Given the description of an element on the screen output the (x, y) to click on. 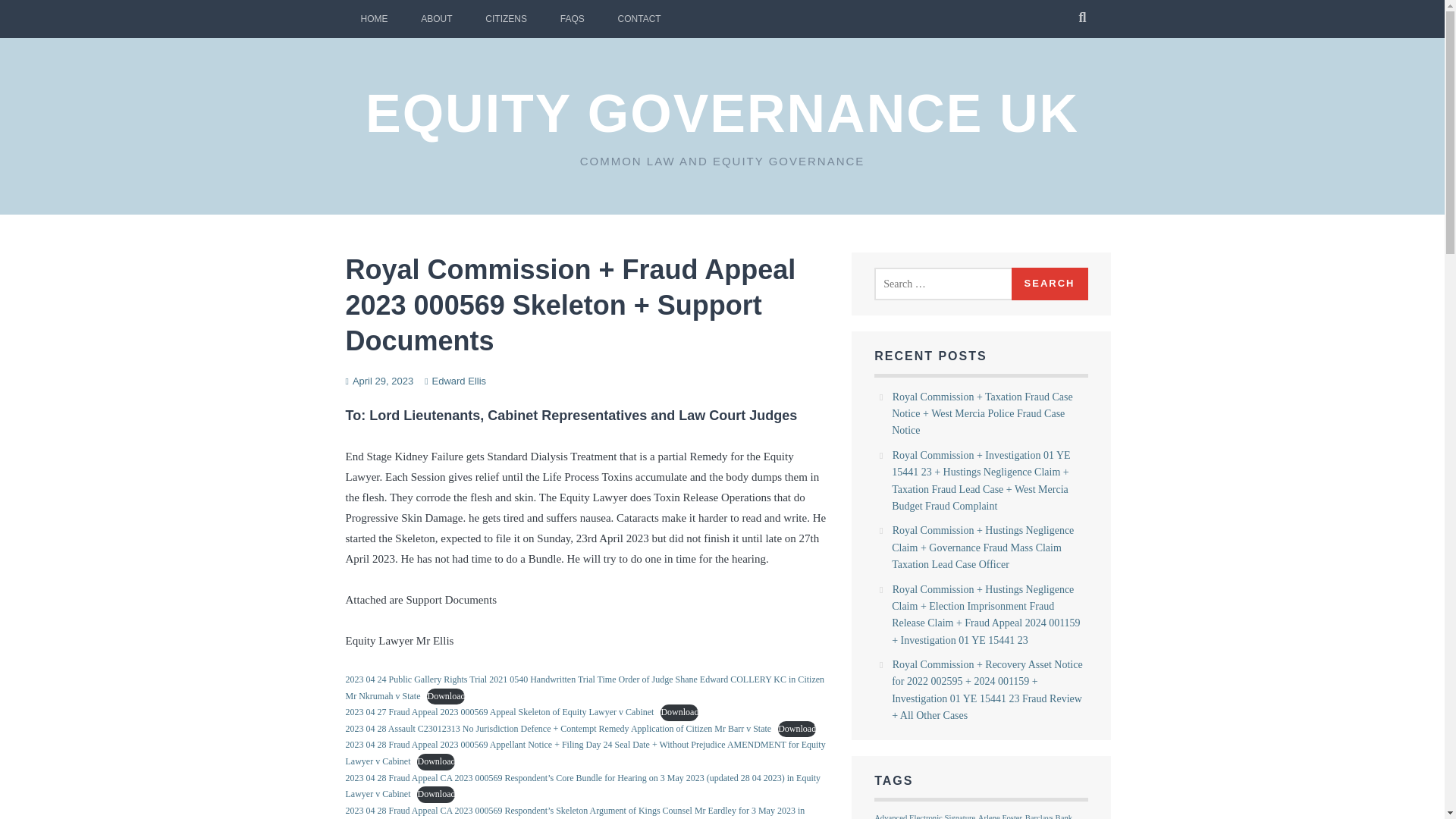
Download (435, 794)
ABOUT (436, 18)
HOME (374, 18)
FAQS (571, 18)
Search (1049, 283)
CITIZENS (505, 18)
Search (1049, 283)
Download (445, 696)
CONTACT (639, 18)
April 29, 2023 (382, 380)
